Given the description of an element on the screen output the (x, y) to click on. 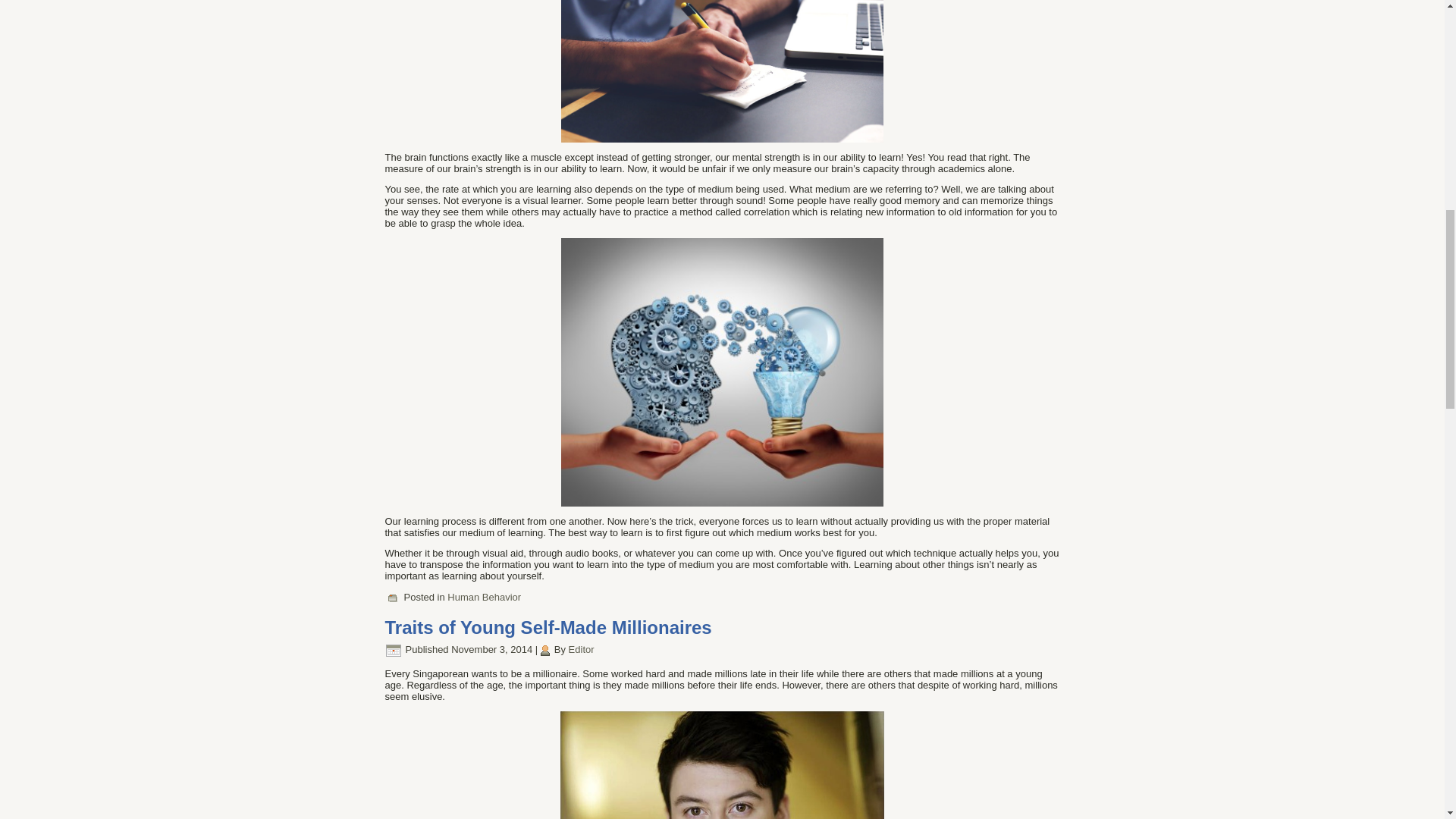
Traits of Young Self-Made Millionaires (548, 627)
2:07 am (491, 649)
Editor (581, 649)
Human Behavior (483, 596)
Traits of Young Self-Made Millionaires (548, 627)
View all posts by Editor (581, 649)
